Given the description of an element on the screen output the (x, y) to click on. 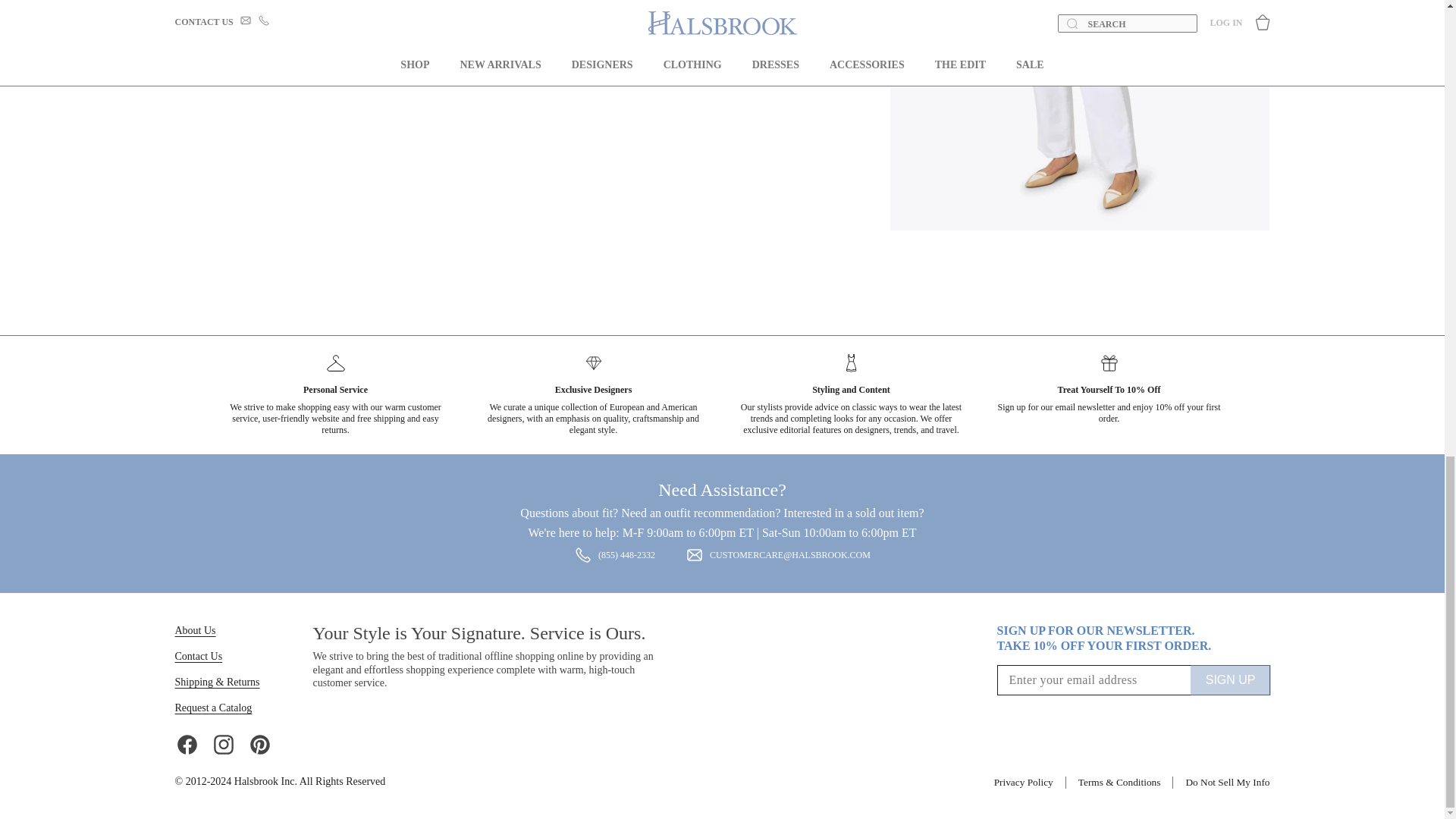
Do Not Sell My Info (1227, 782)
